Given the description of an element on the screen output the (x, y) to click on. 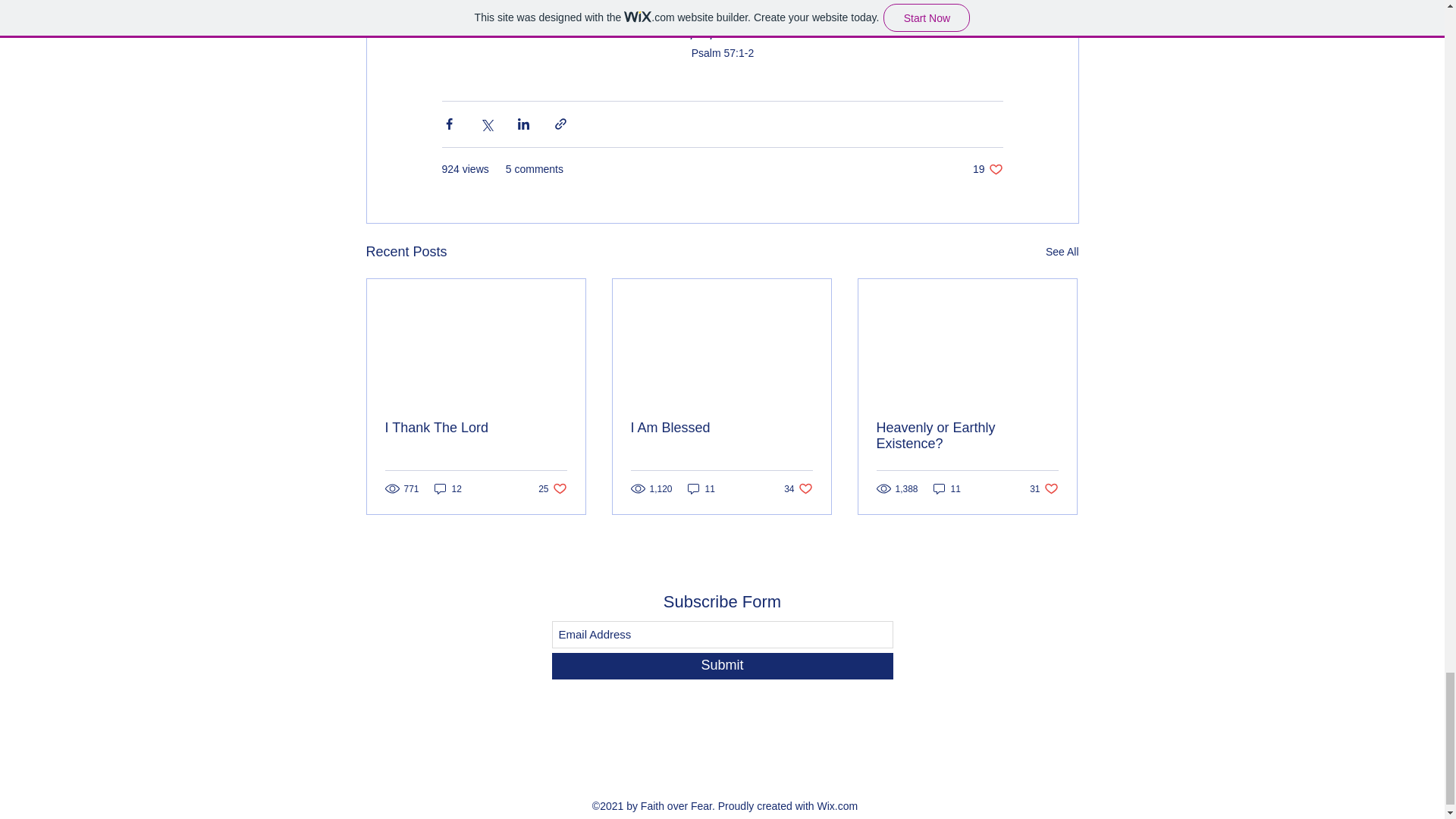
12 (447, 488)
11 (552, 488)
Submit (700, 488)
See All (722, 665)
11 (798, 488)
I Thank The Lord (1061, 251)
I Am Blessed (1043, 488)
Heavenly or Earthly Existence? (946, 488)
